Given the description of an element on the screen output the (x, y) to click on. 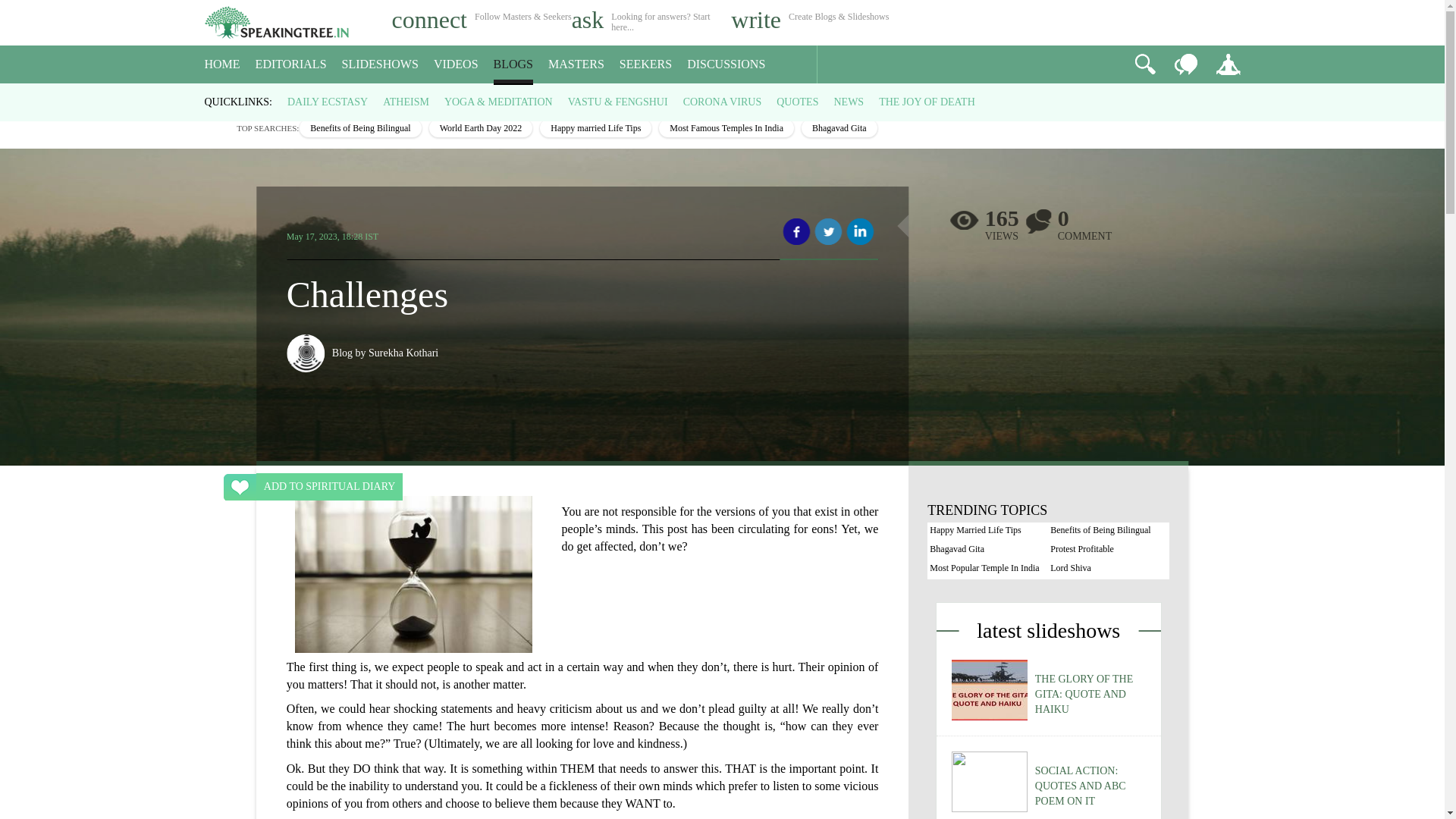
Share on Facebook (796, 231)
Share on LinkedIn (860, 231)
VIDEOS (456, 64)
ATHEISM (405, 101)
QUOTES (797, 101)
Speaking Tree (216, 96)
EDITORIALS (291, 64)
Blogs (251, 96)
BLOGS (512, 64)
MASTERS (576, 64)
